Given the description of an element on the screen output the (x, y) to click on. 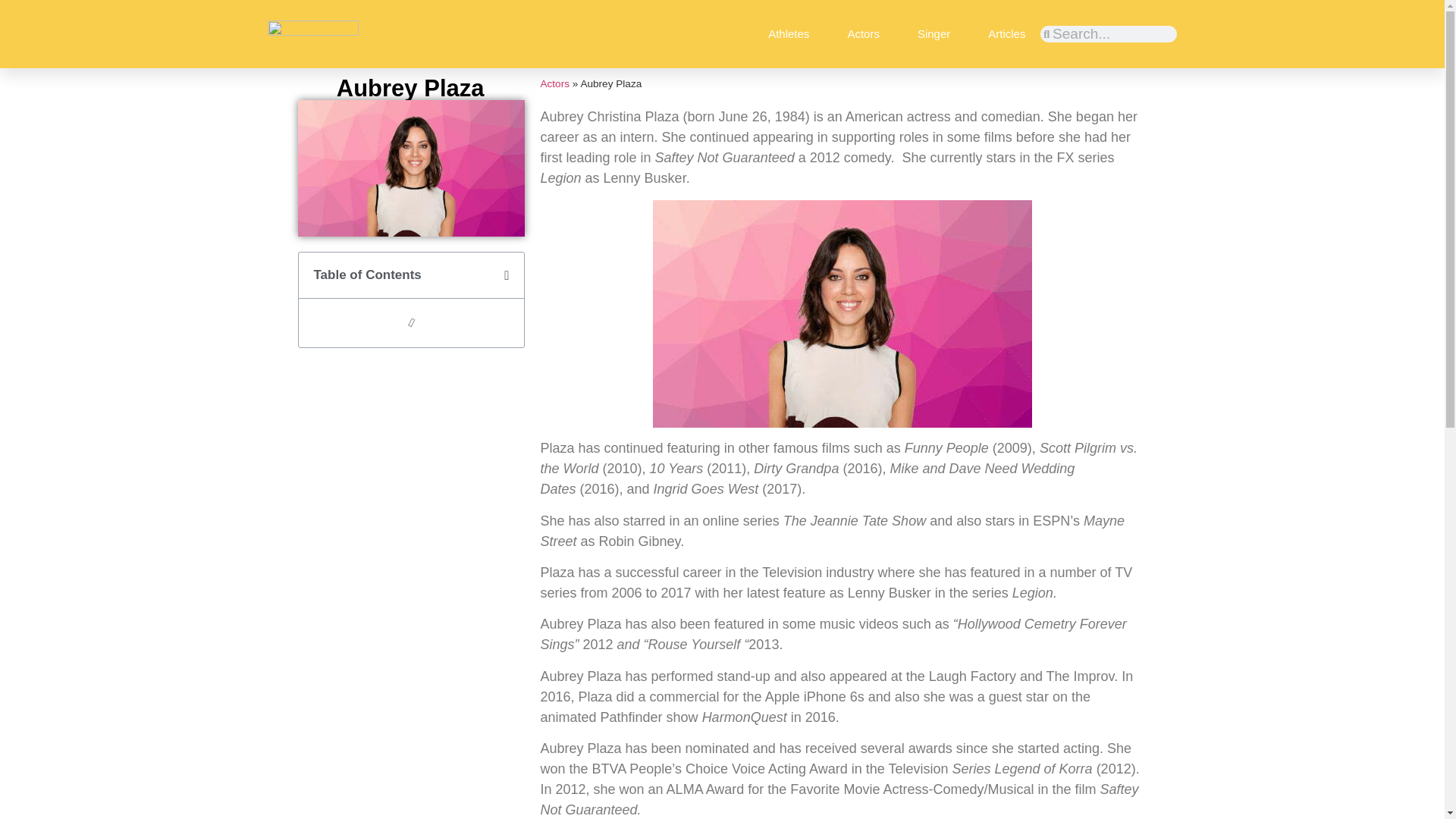
Actors (554, 83)
Actors (863, 33)
Articles (1006, 33)
Athletes (788, 33)
Singer (933, 33)
